Given the description of an element on the screen output the (x, y) to click on. 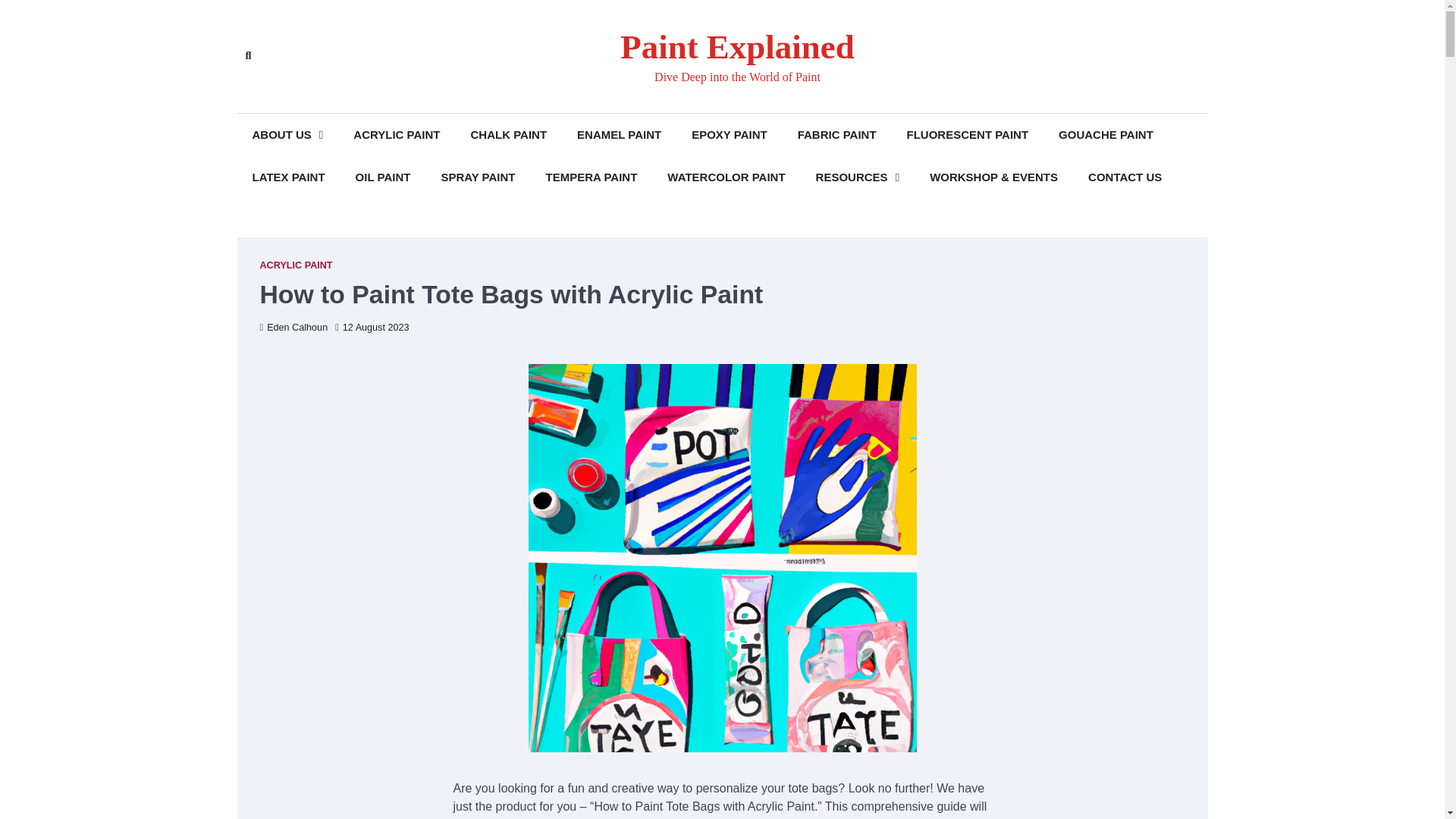
CONTACT US (1124, 177)
OIL PAINT (383, 177)
ENAMEL PAINT (619, 135)
ABOUT US (286, 135)
GOUACHE PAINT (1106, 135)
FABRIC PAINT (837, 135)
Search (443, 91)
EPOXY PAINT (729, 135)
LATEX PAINT (287, 177)
FLUORESCENT PAINT (967, 135)
